Given the description of an element on the screen output the (x, y) to click on. 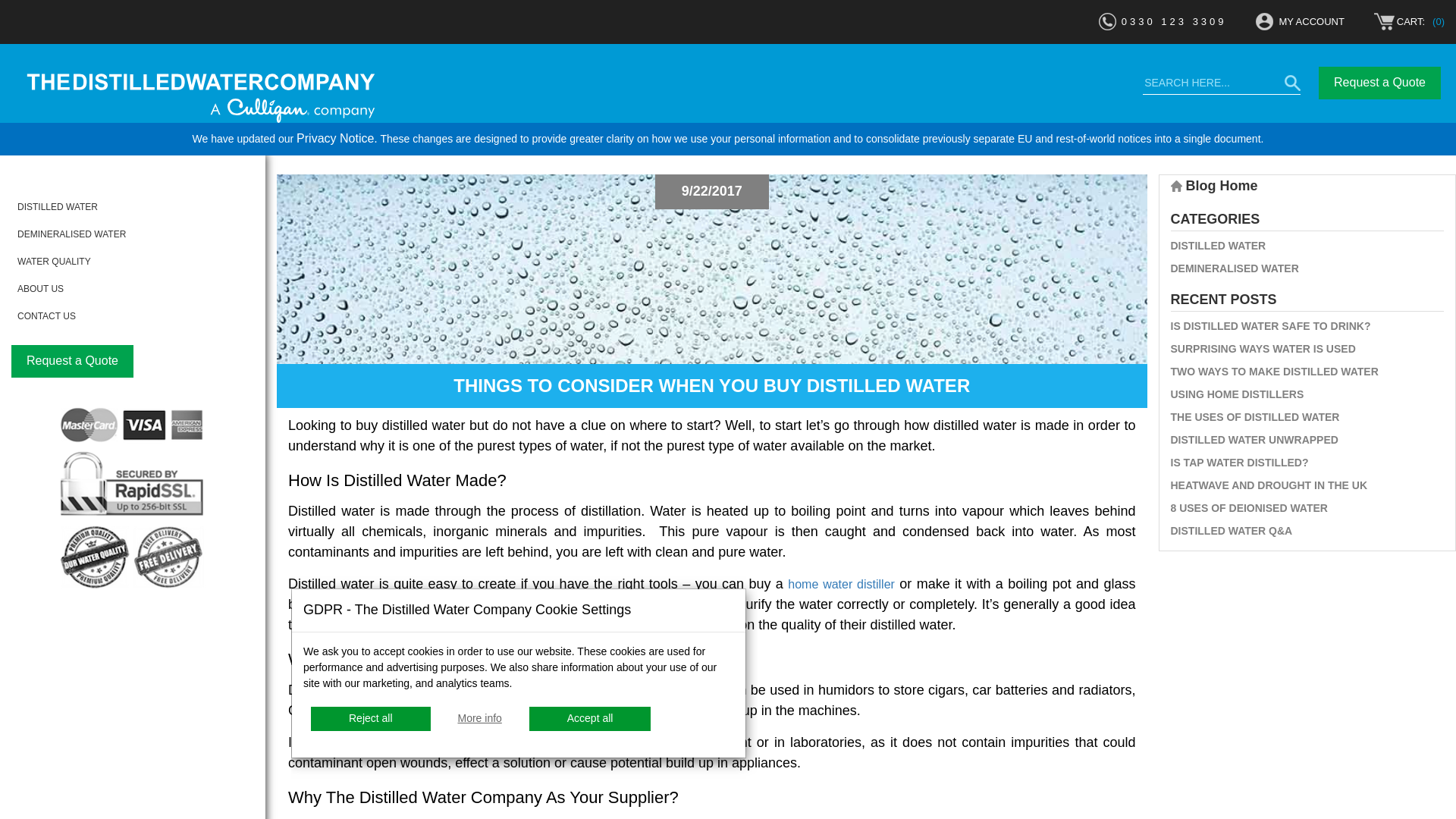
CONTACT US (46, 316)
Privacy Notice. (337, 137)
Things to Consider When You Buy Distilled Water (711, 385)
DEMINERALISED WATER (71, 234)
The Distilled Water Company (200, 97)
0330 123 3309 (1174, 21)
The Distilled Water Company (227, 98)
WATER QUALITY (53, 261)
DISTILLED WATER (57, 206)
MY ACCOUNT (1310, 21)
